Given the description of an element on the screen output the (x, y) to click on. 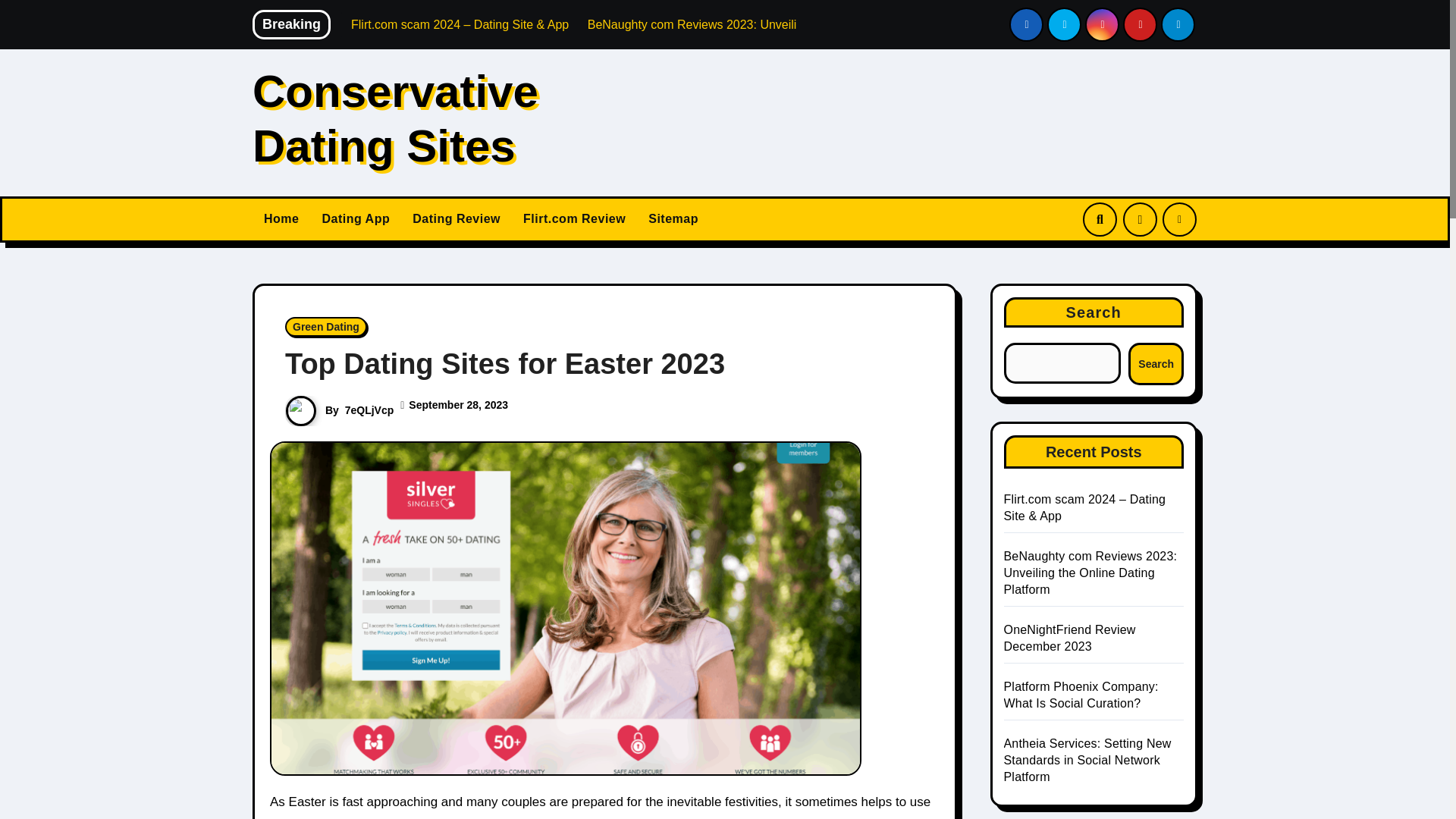
Flirt.com Review (574, 218)
Flirt.com Review (574, 218)
7eQLjVcp (369, 409)
Home (280, 218)
September 28, 2023 (458, 404)
Dating App (355, 218)
Sitemap (673, 218)
Top Dating Sites for Easter 2023 (505, 364)
Dating App (355, 218)
Dating Review (456, 218)
Sitemap (673, 218)
Home (280, 218)
Dating Review (456, 218)
Green Dating (325, 326)
